Given the description of an element on the screen output the (x, y) to click on. 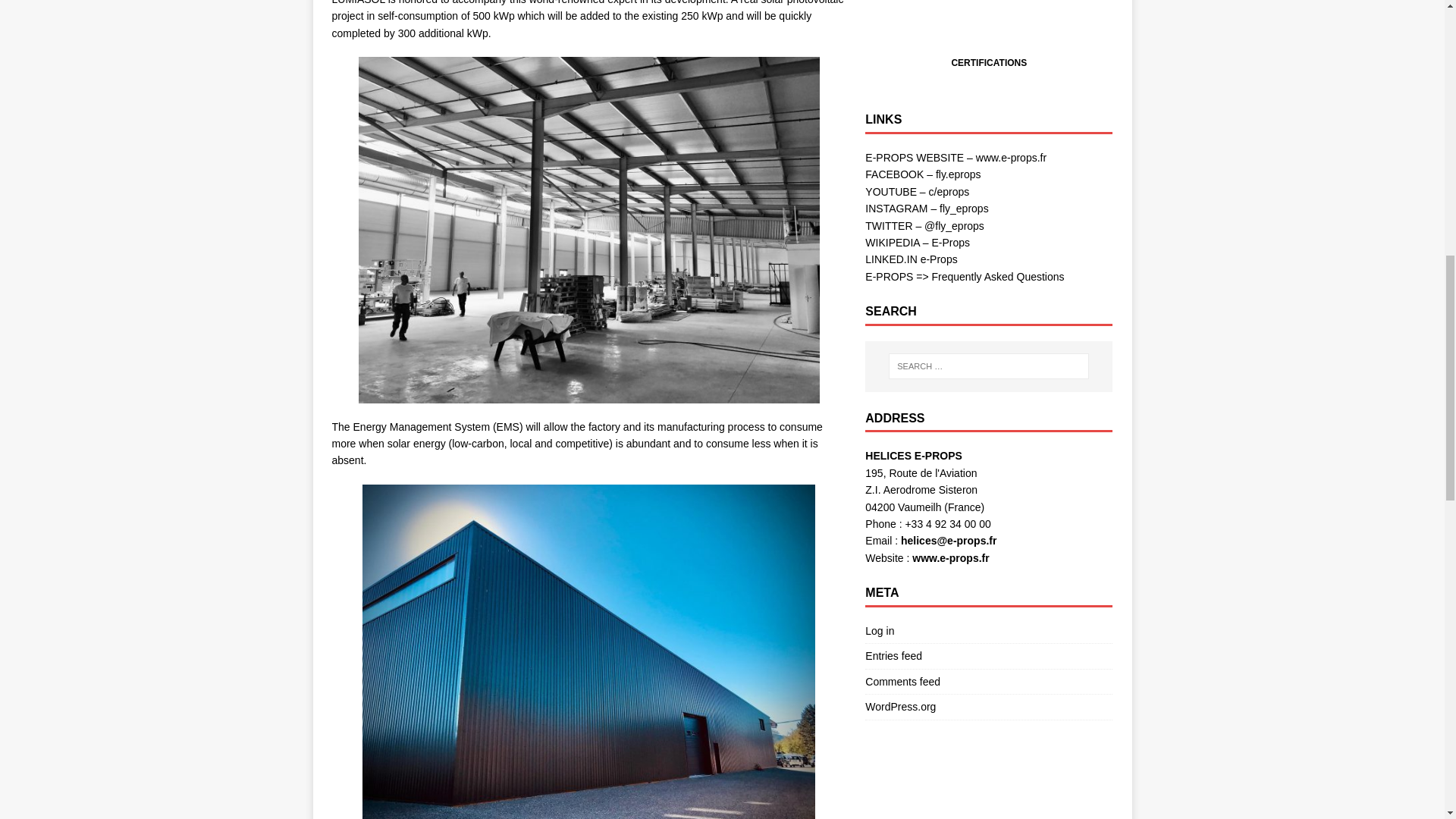
LINKED.IN e-Props (910, 259)
E-PROPS WEBSITE (955, 157)
Facebook E-Props (921, 174)
CERTIFICATIONS (988, 62)
Wikipedia page (916, 242)
E-PROPS YouTube  (916, 191)
